Given the description of an element on the screen output the (x, y) to click on. 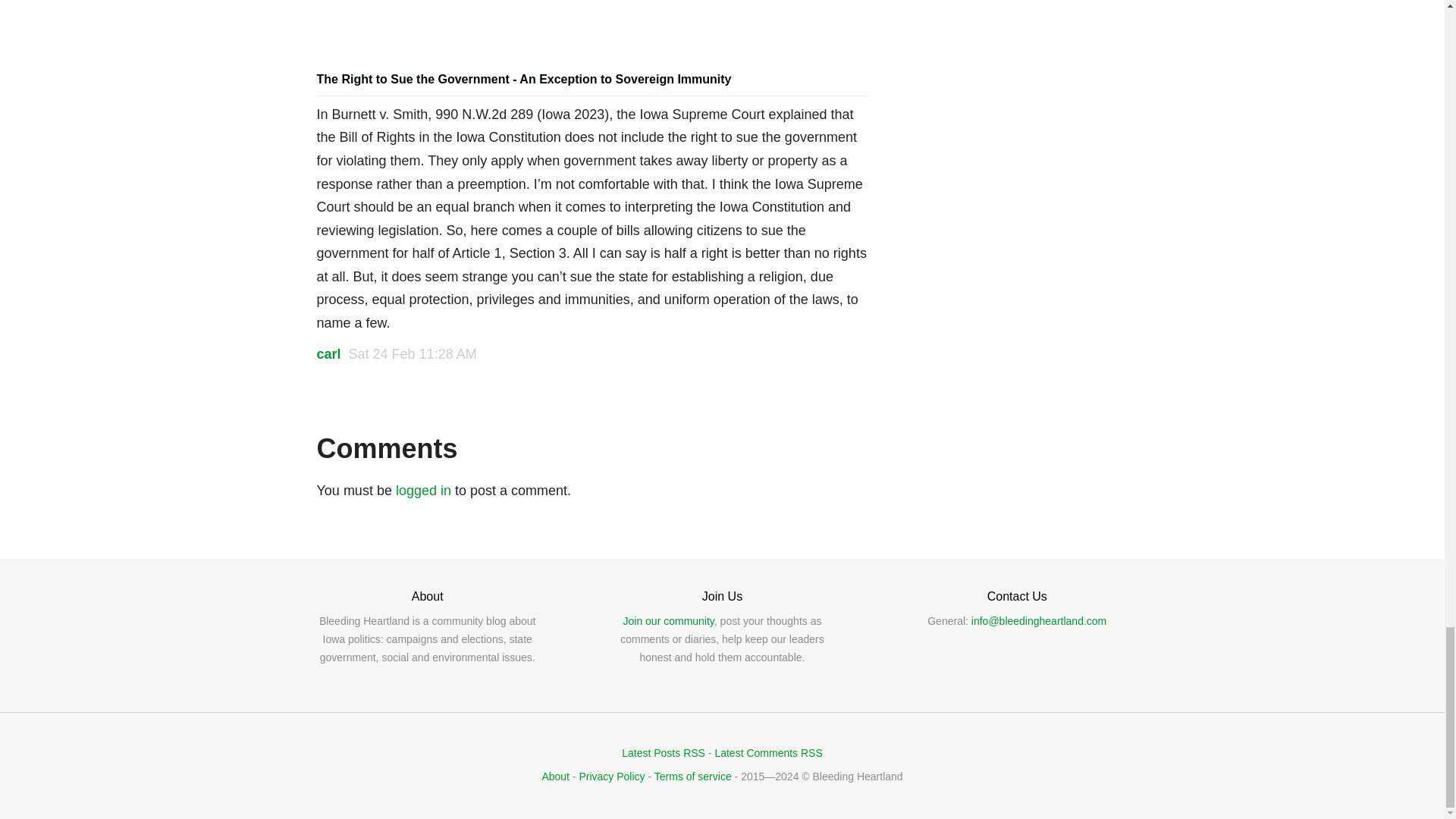
Comment Permalink (413, 353)
logged in (423, 490)
carl (328, 353)
Sat 24 Feb 11:28 AM (413, 353)
